Given the description of an element on the screen output the (x, y) to click on. 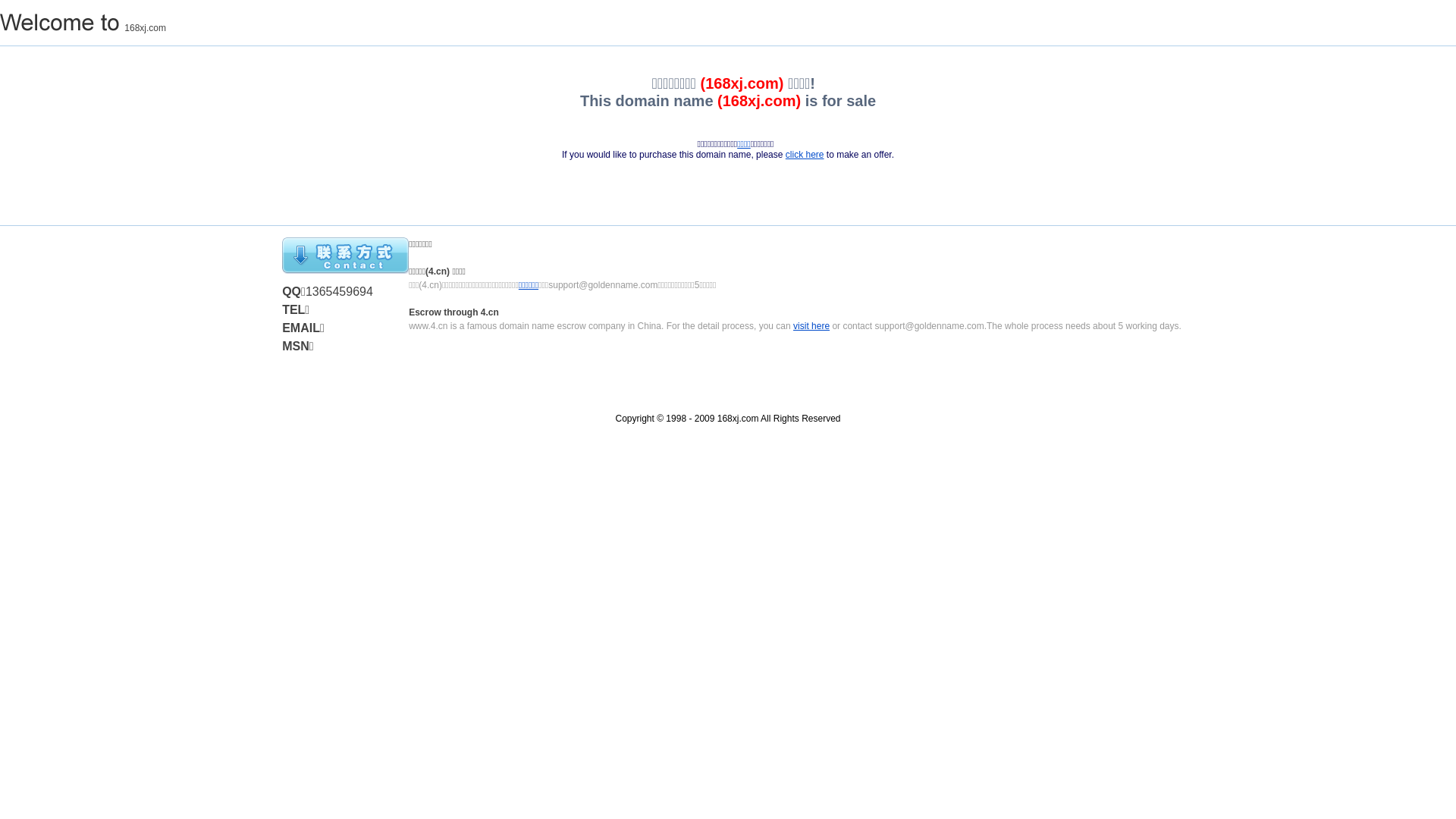
click here Element type: text (804, 154)
visit here Element type: text (811, 325)
